Given the description of an element on the screen output the (x, y) to click on. 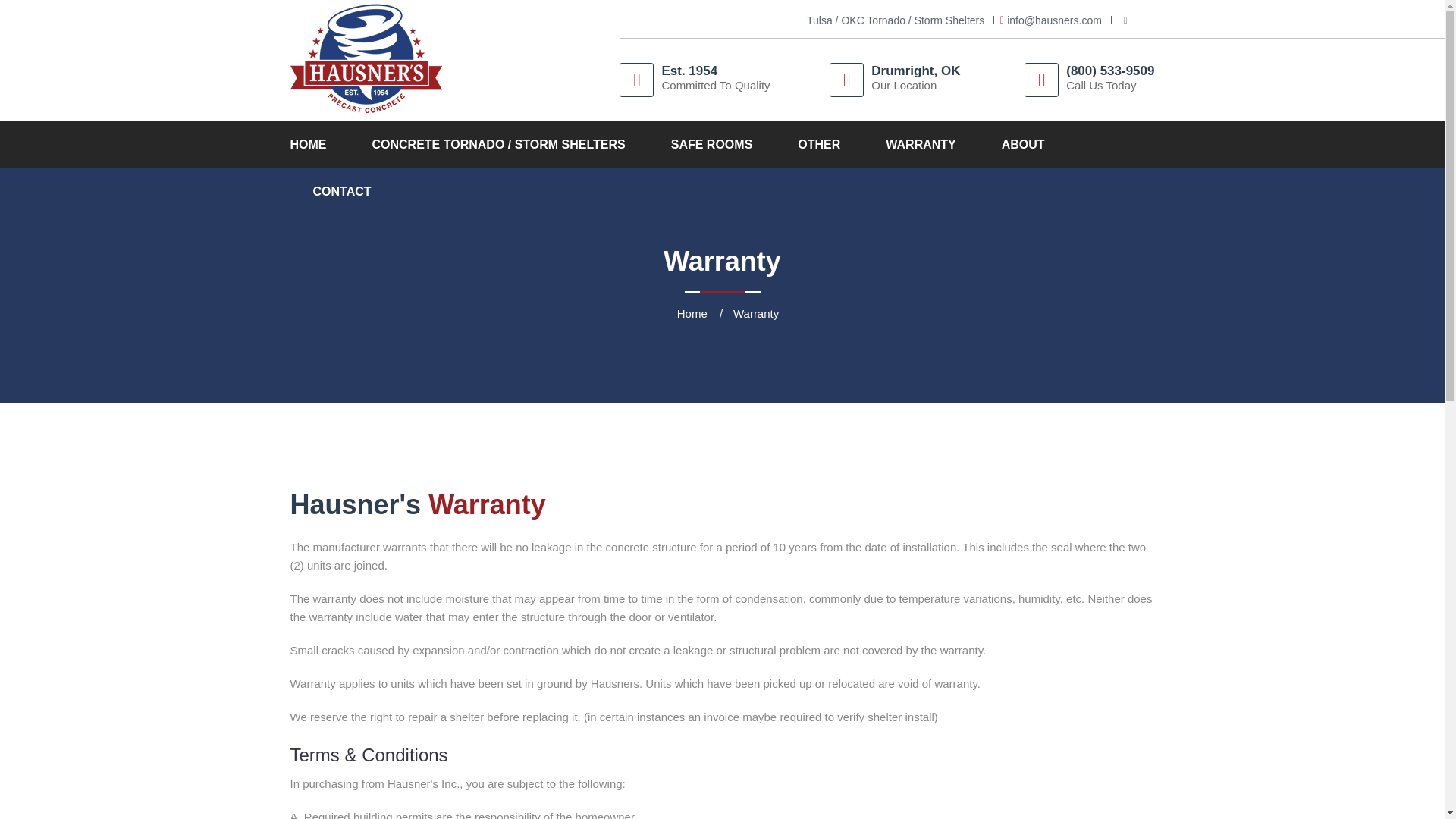
WARRANTY (919, 144)
OTHER (818, 144)
ABOUT (1023, 144)
CONTACT (341, 191)
SAFE ROOMS (711, 144)
Home (692, 314)
HOME (311, 144)
